Given the description of an element on the screen output the (x, y) to click on. 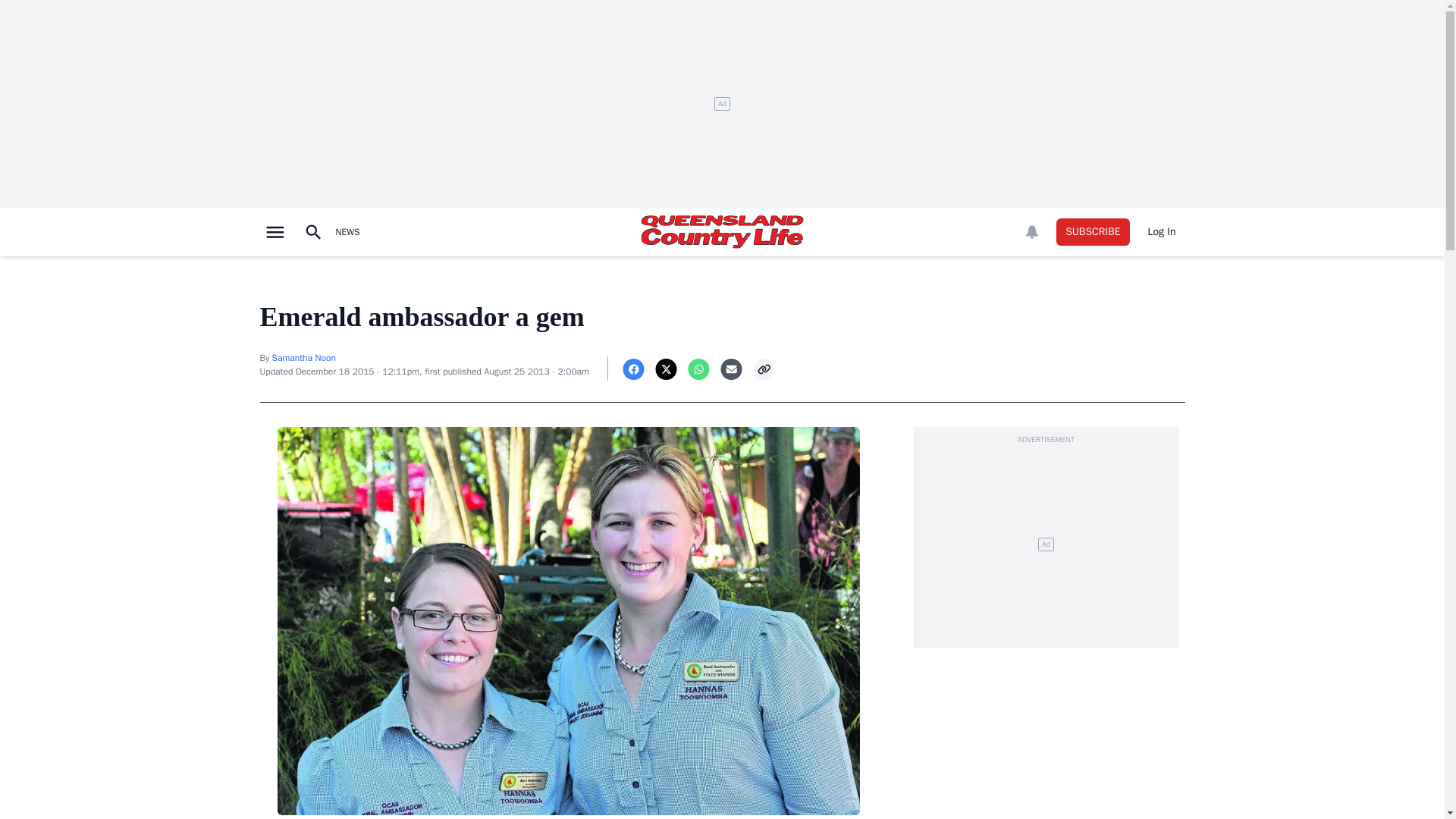
Log In (1161, 231)
NEWS (347, 232)
SUBSCRIBE (1093, 231)
